Given the description of an element on the screen output the (x, y) to click on. 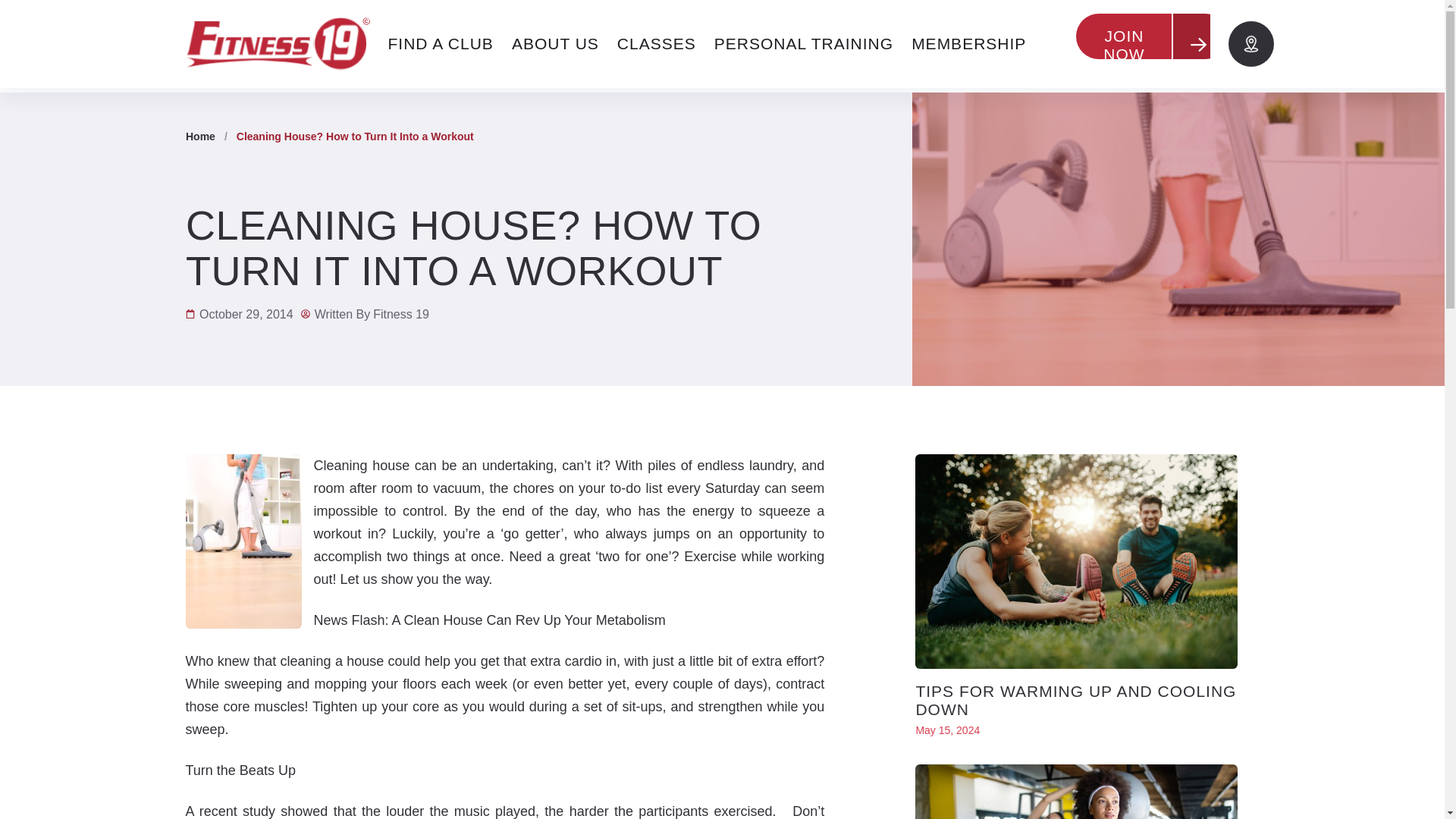
2024-05-15T13:13:33-07:00 (947, 729)
ABOUT US (555, 43)
CLASSES (656, 43)
MEMBERSHIP (968, 43)
FIND A CLUB (440, 43)
Home (200, 136)
PERSONAL TRAINING (803, 43)
TIPS FOR WARMING UP AND COOLING DOWN (1075, 700)
May 15, 2024 (947, 729)
JOIN NOW (1151, 43)
Home (200, 136)
